Given the description of an element on the screen output the (x, y) to click on. 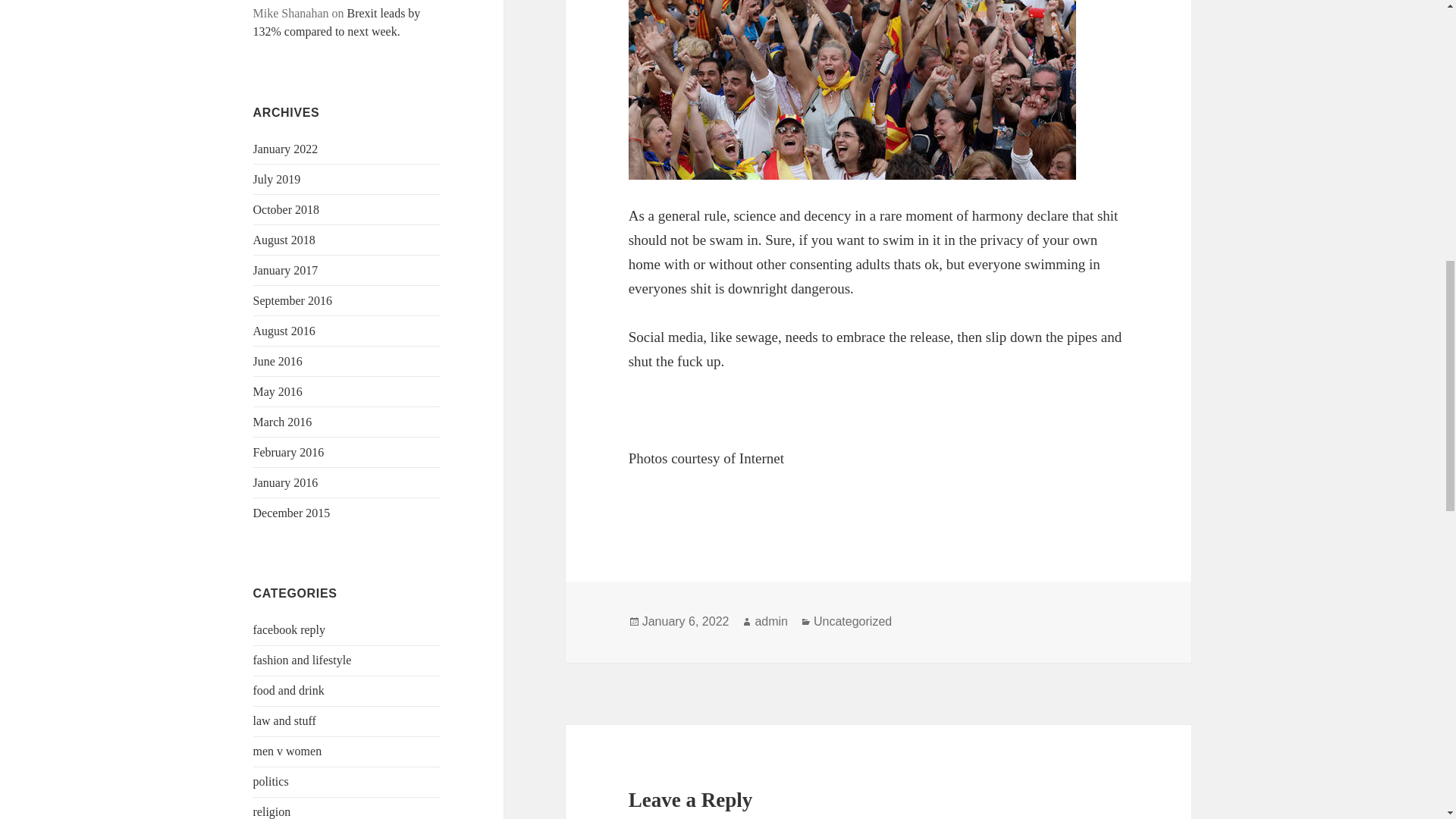
October 2018 (286, 209)
January 2016 (285, 481)
facebook reply (289, 629)
law and stuff (284, 720)
men v women (287, 750)
politics (270, 780)
September 2016 (292, 300)
August 2018 (284, 239)
religion (272, 811)
August 2016 (284, 330)
